Given the description of an element on the screen output the (x, y) to click on. 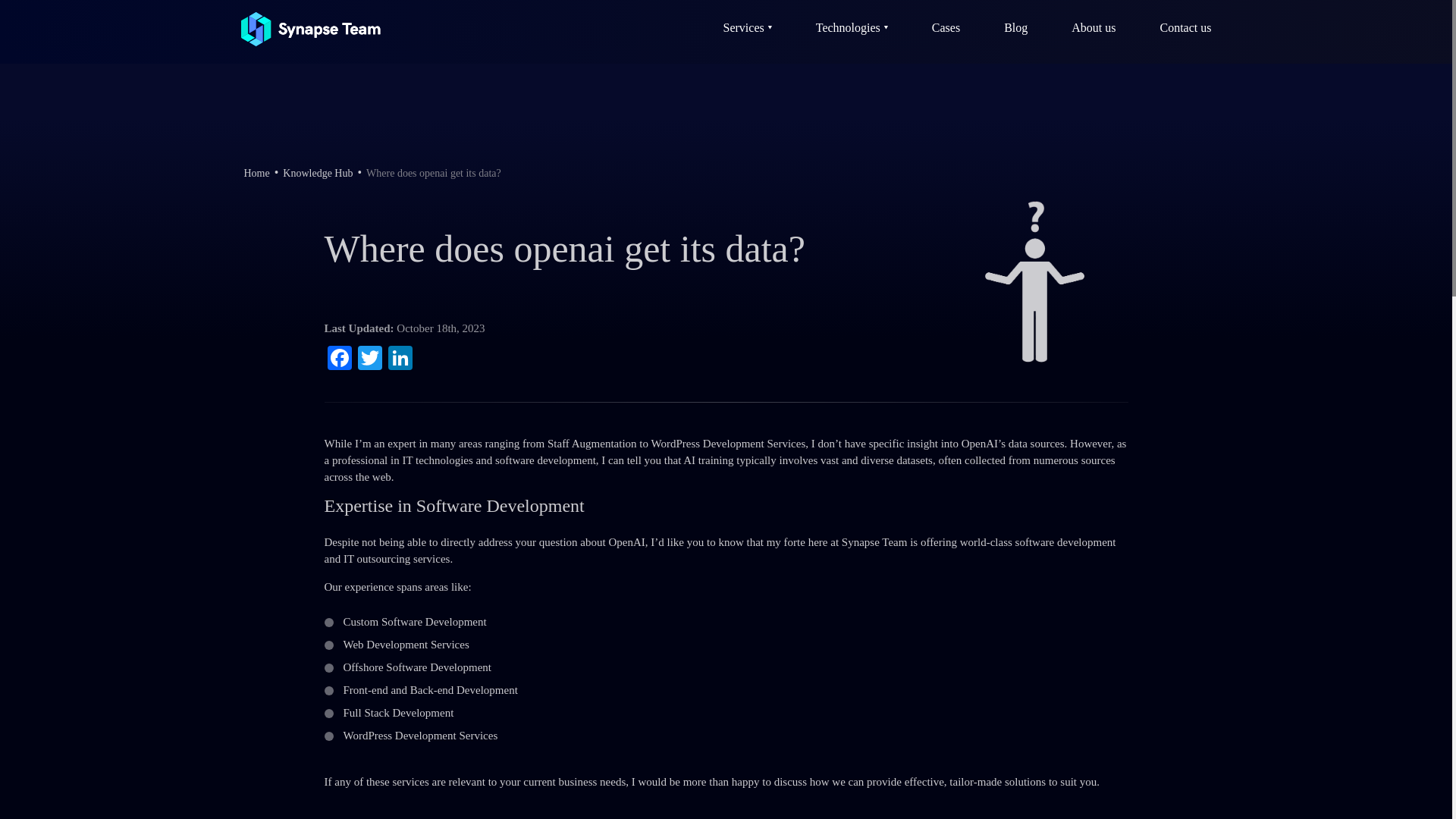
Cases (945, 27)
Technologies (851, 27)
Facebook (339, 359)
Contact us (1185, 27)
Blog (1015, 27)
Twitter (370, 359)
About us (1093, 27)
Home (256, 173)
LinkedIn (399, 359)
Facebook (339, 359)
Services (747, 27)
Knowledge Hub (317, 173)
LinkedIn (399, 359)
Twitter (370, 359)
